Given the description of an element on the screen output the (x, y) to click on. 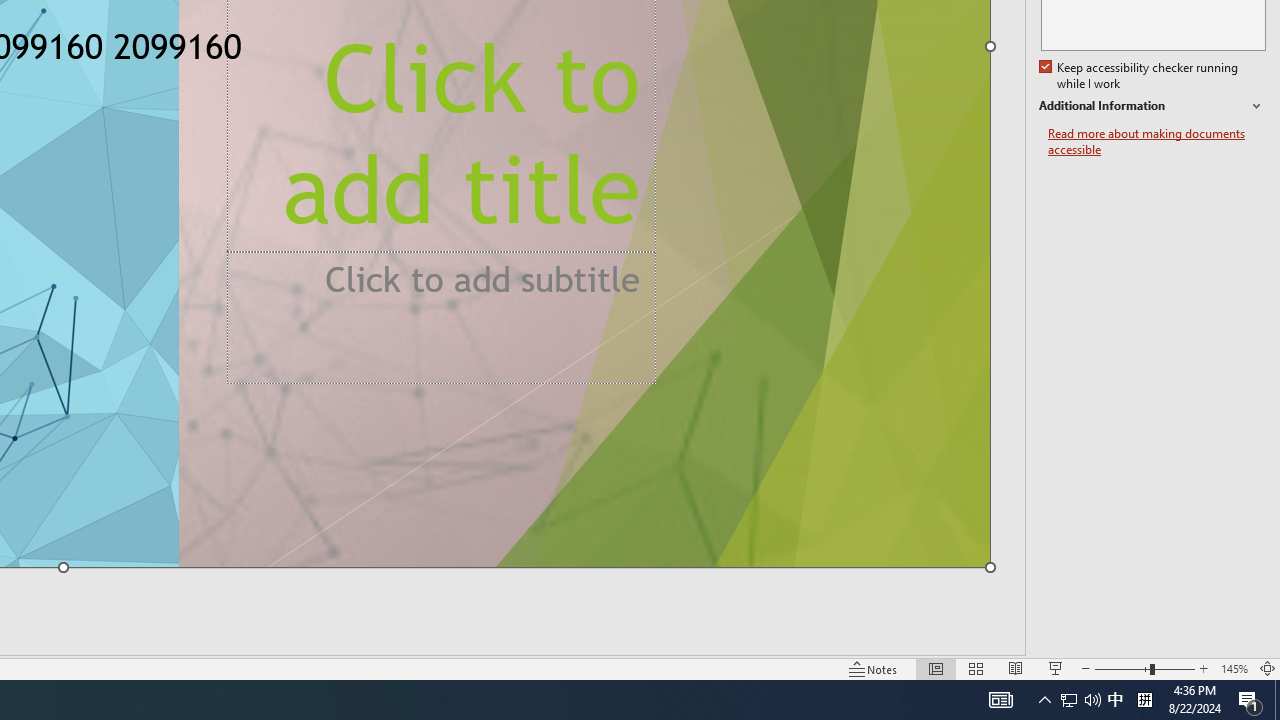
Zoom 145% (1234, 668)
